Given the description of an element on the screen output the (x, y) to click on. 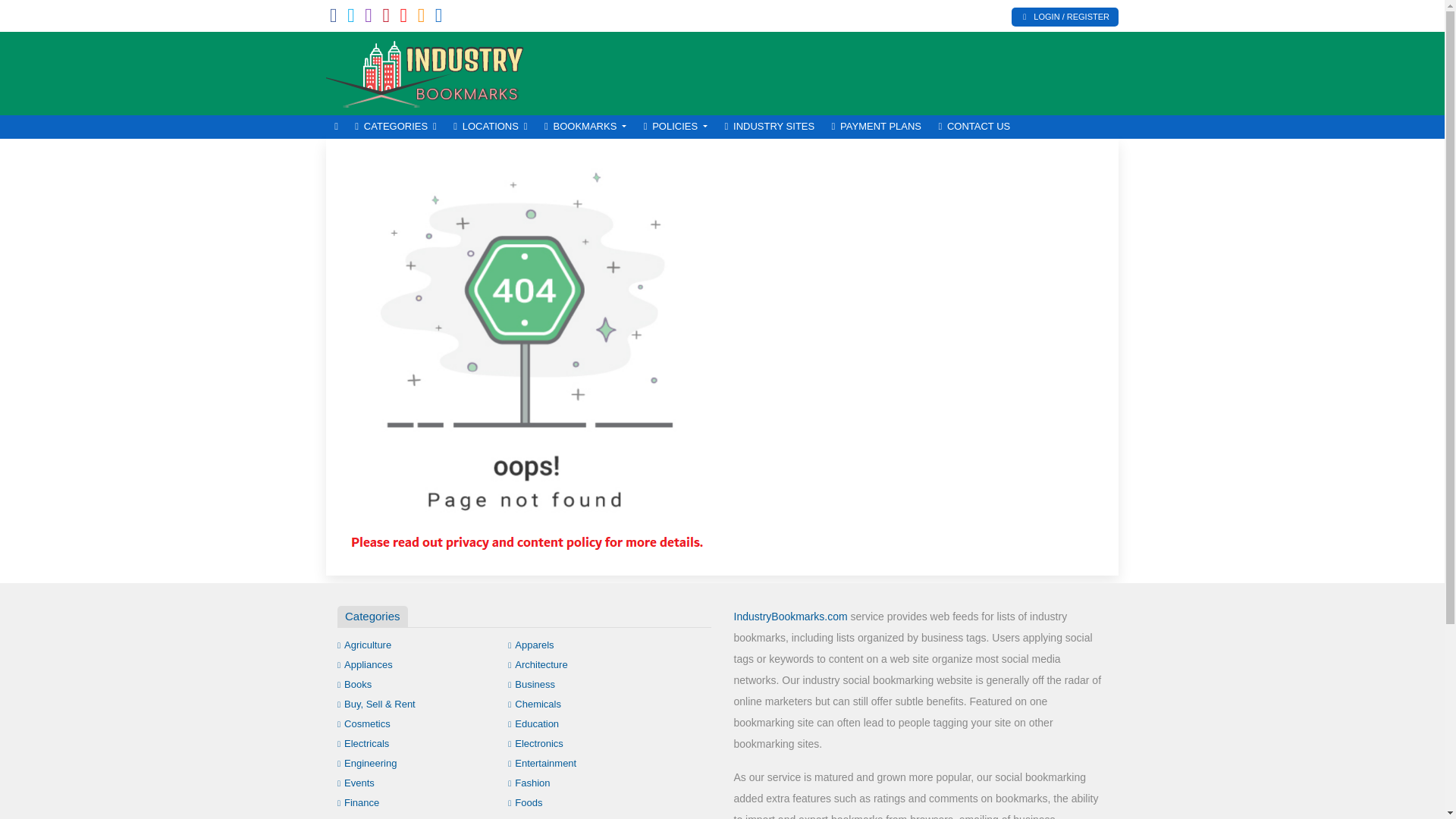
Search, Manage and Store Industrial Products and Services (428, 71)
LOCATIONS (490, 126)
CATEGORIES (395, 126)
